Given the description of an element on the screen output the (x, y) to click on. 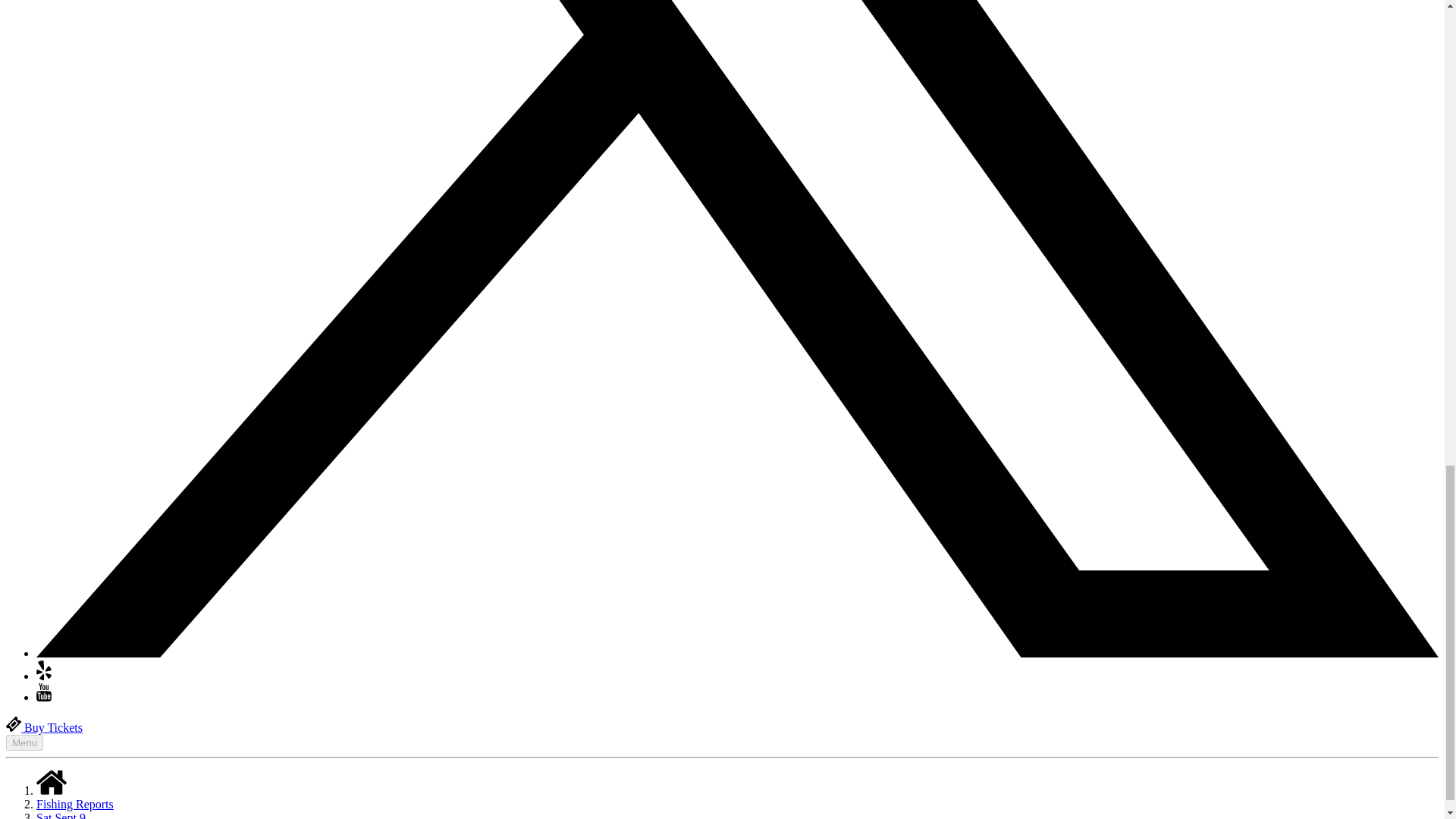
YouTube (43, 697)
Menu (24, 742)
Yelp (43, 670)
Home (51, 782)
Yelp (43, 675)
Ticket (13, 724)
YouTube (43, 692)
Home (51, 789)
Ticket Buy Tickets (43, 727)
Fishing Reports (74, 803)
